Given the description of an element on the screen output the (x, y) to click on. 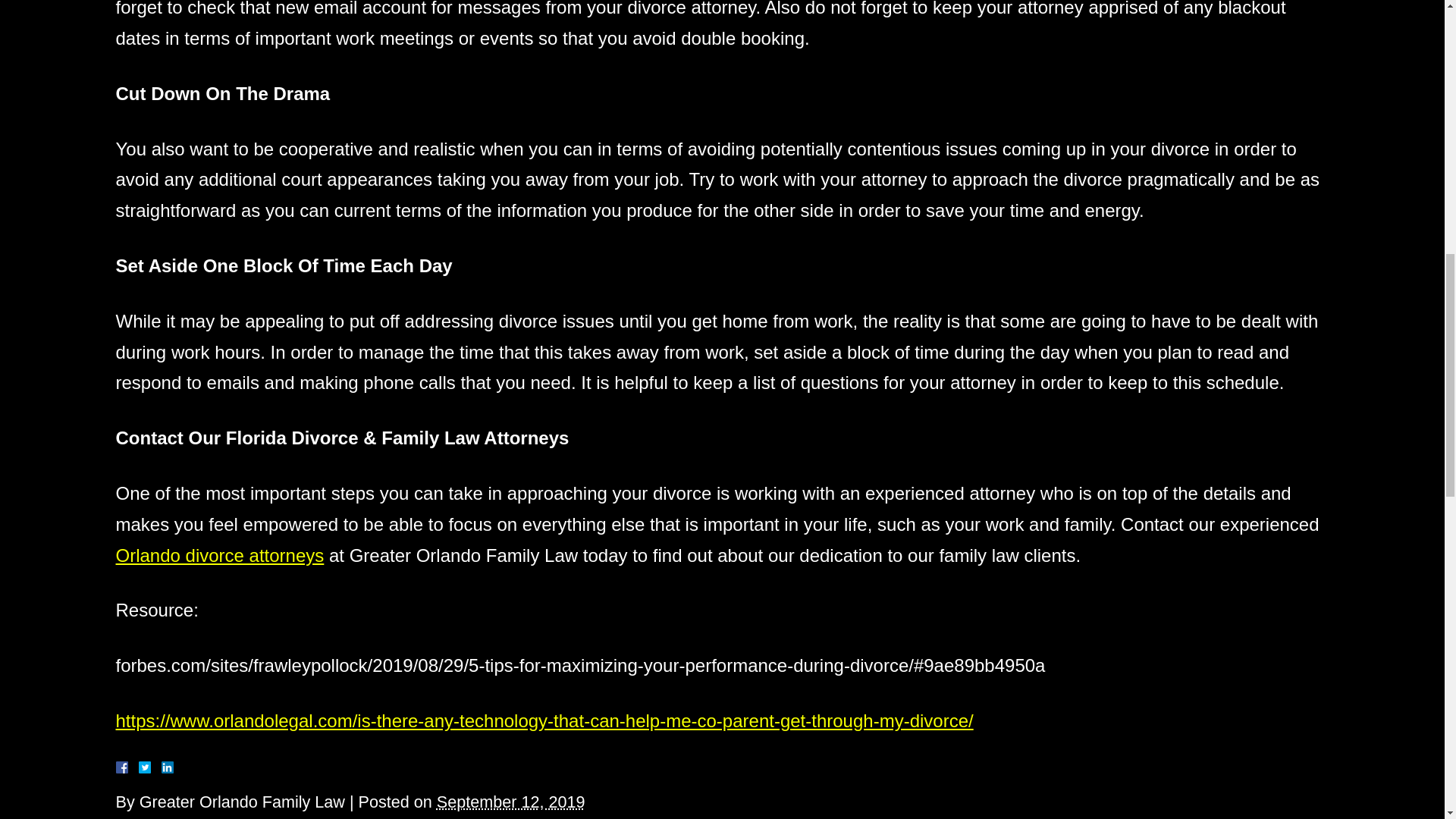
2019-09-12T03:00:35-0700 (510, 801)
Facebook (139, 767)
LinkedIn (160, 767)
Twitter (149, 767)
